Given the description of an element on the screen output the (x, y) to click on. 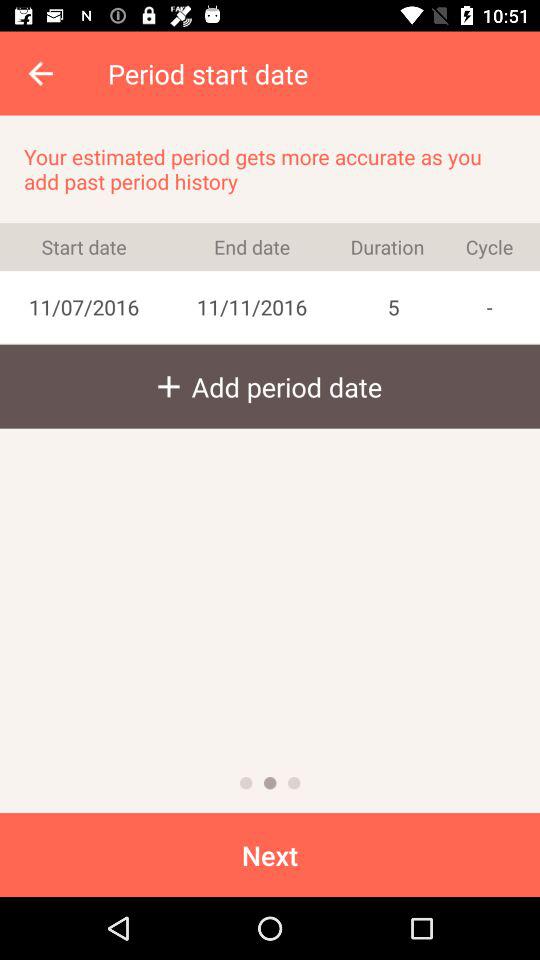
pagination option (246, 783)
